Given the description of an element on the screen output the (x, y) to click on. 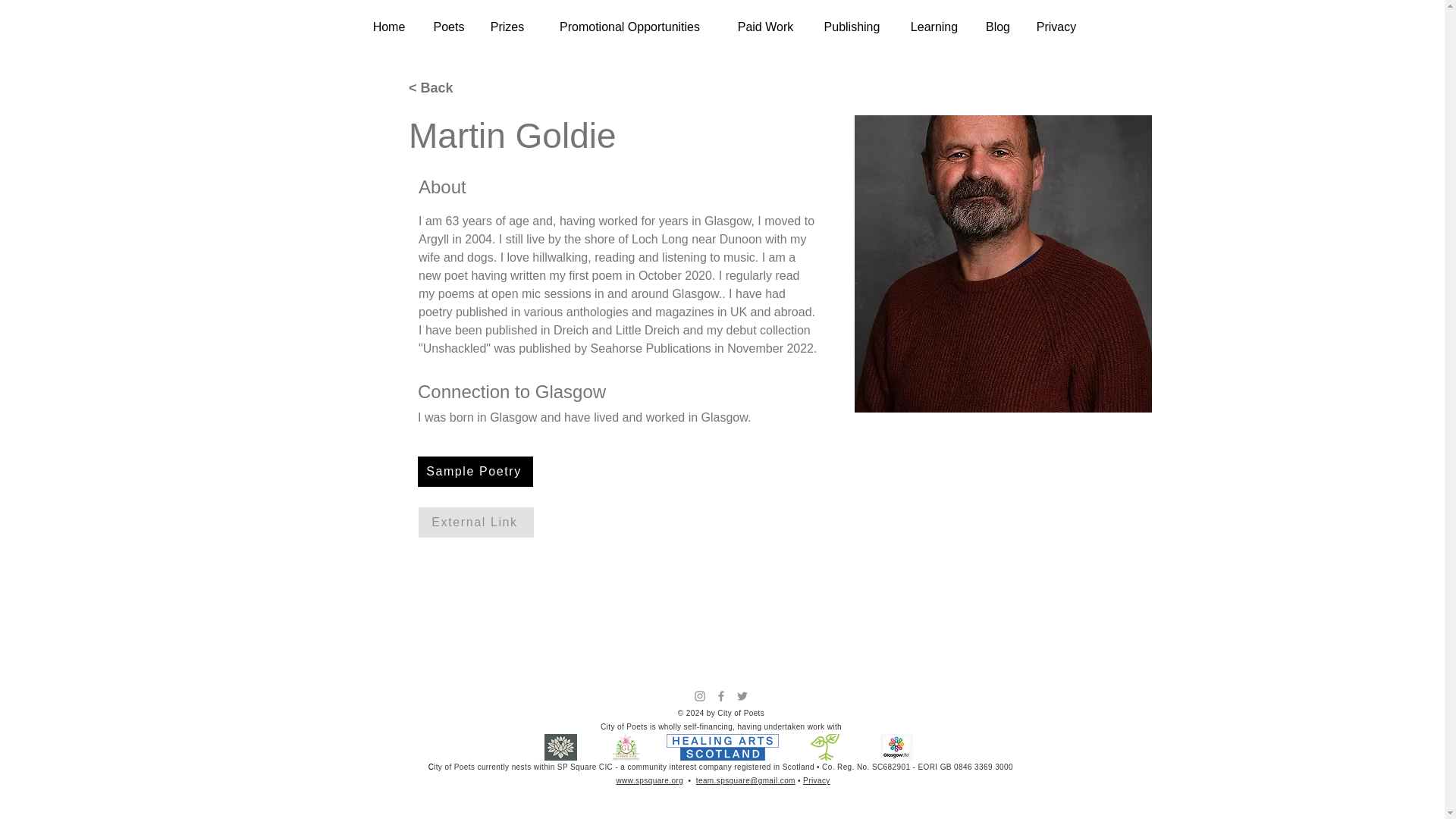
Home (388, 26)
External Link (476, 521)
Poets (449, 26)
Blog (997, 26)
Prizes (506, 26)
www.spsquare.org (648, 780)
Sample Poetry (474, 471)
Paid Work (765, 26)
Privacy (1056, 26)
Privacy (816, 780)
